Given the description of an element on the screen output the (x, y) to click on. 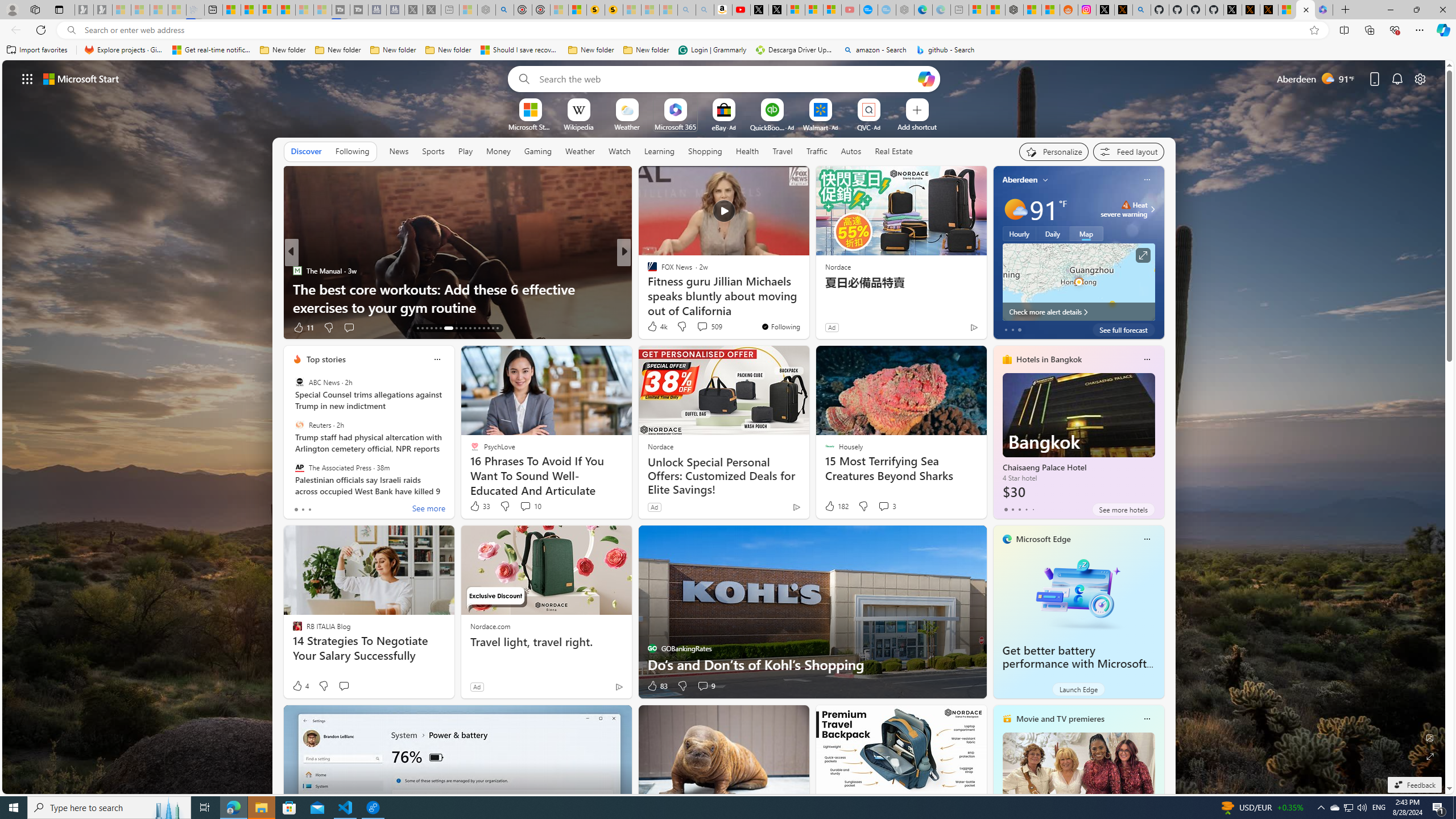
How Shein Is Revolutionizing The Fashion Industry? (807, 307)
5 Like (301, 327)
How to delete a user account on Windows 11 (807, 307)
tab-2 (1019, 509)
Weather (579, 151)
Real Estate (893, 151)
News (398, 151)
Class: weather-arrow-glyph (1152, 208)
Heat - Severe (1126, 204)
View comments 8 Comment (705, 327)
